Given the description of an element on the screen output the (x, y) to click on. 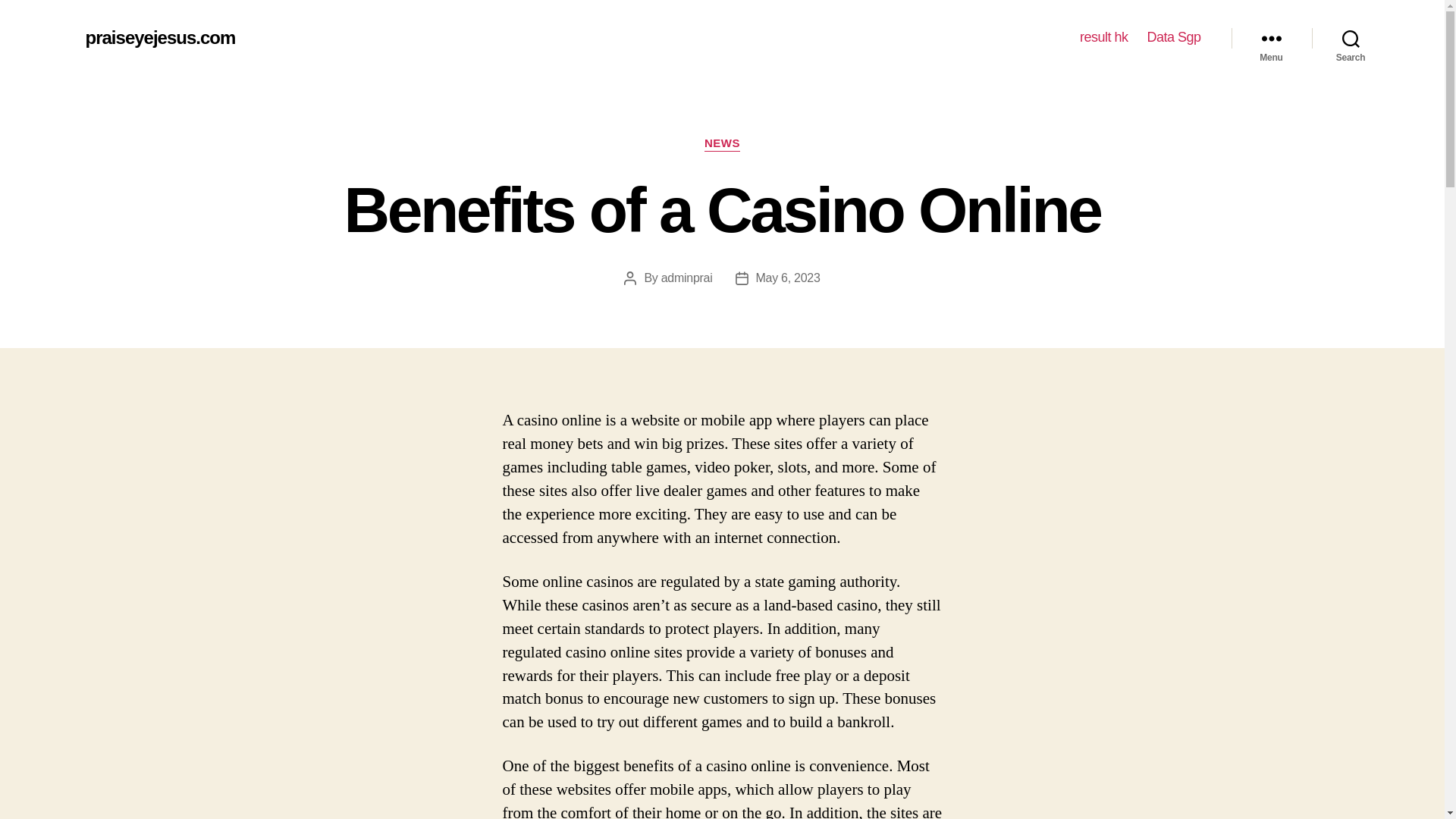
NEWS (721, 143)
Search (1350, 37)
May 6, 2023 (788, 277)
adminprai (687, 277)
praiseyejesus.com (159, 37)
Menu (1271, 37)
Data Sgp (1173, 37)
result hk (1104, 37)
